Given the description of an element on the screen output the (x, y) to click on. 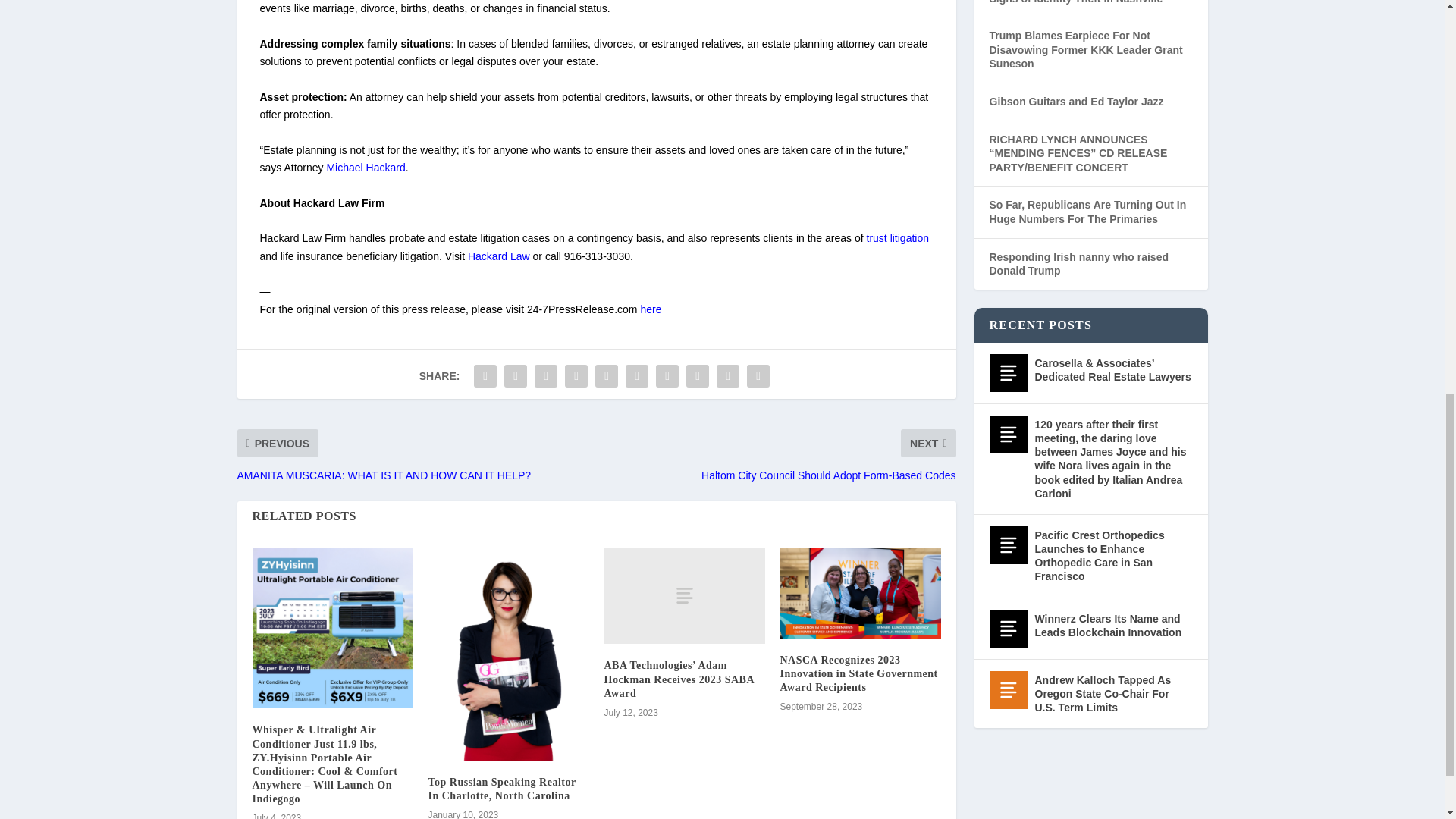
Top Russian Speaking Realtor In Charlotte, North Carolina (501, 788)
Michael Hackard (365, 167)
trust litigation (897, 237)
Hackard Law (498, 256)
here (650, 309)
